Given the description of an element on the screen output the (x, y) to click on. 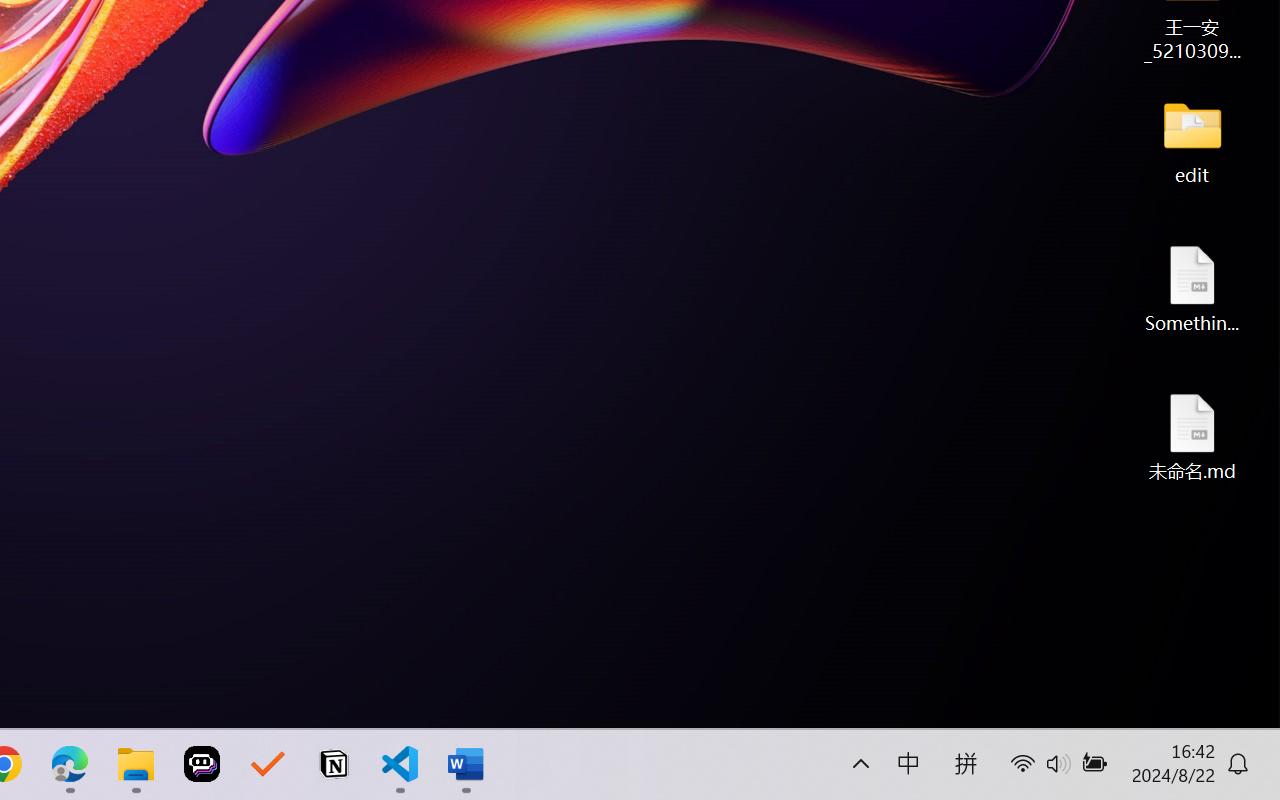
edit (1192, 140)
